Given the description of an element on the screen output the (x, y) to click on. 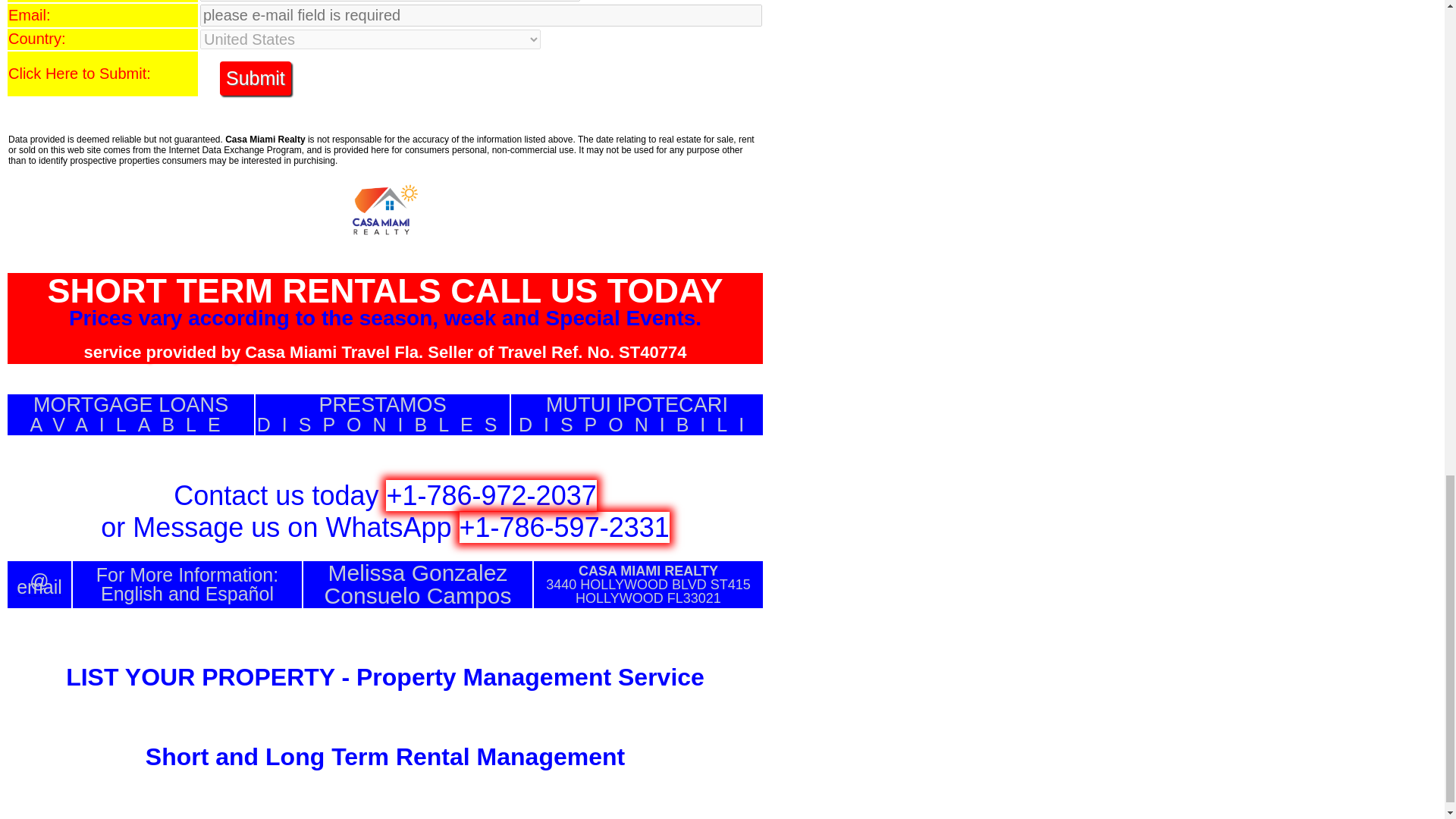
Submit (255, 78)
Spanish (636, 414)
Submit (239, 593)
